Given the description of an element on the screen output the (x, y) to click on. 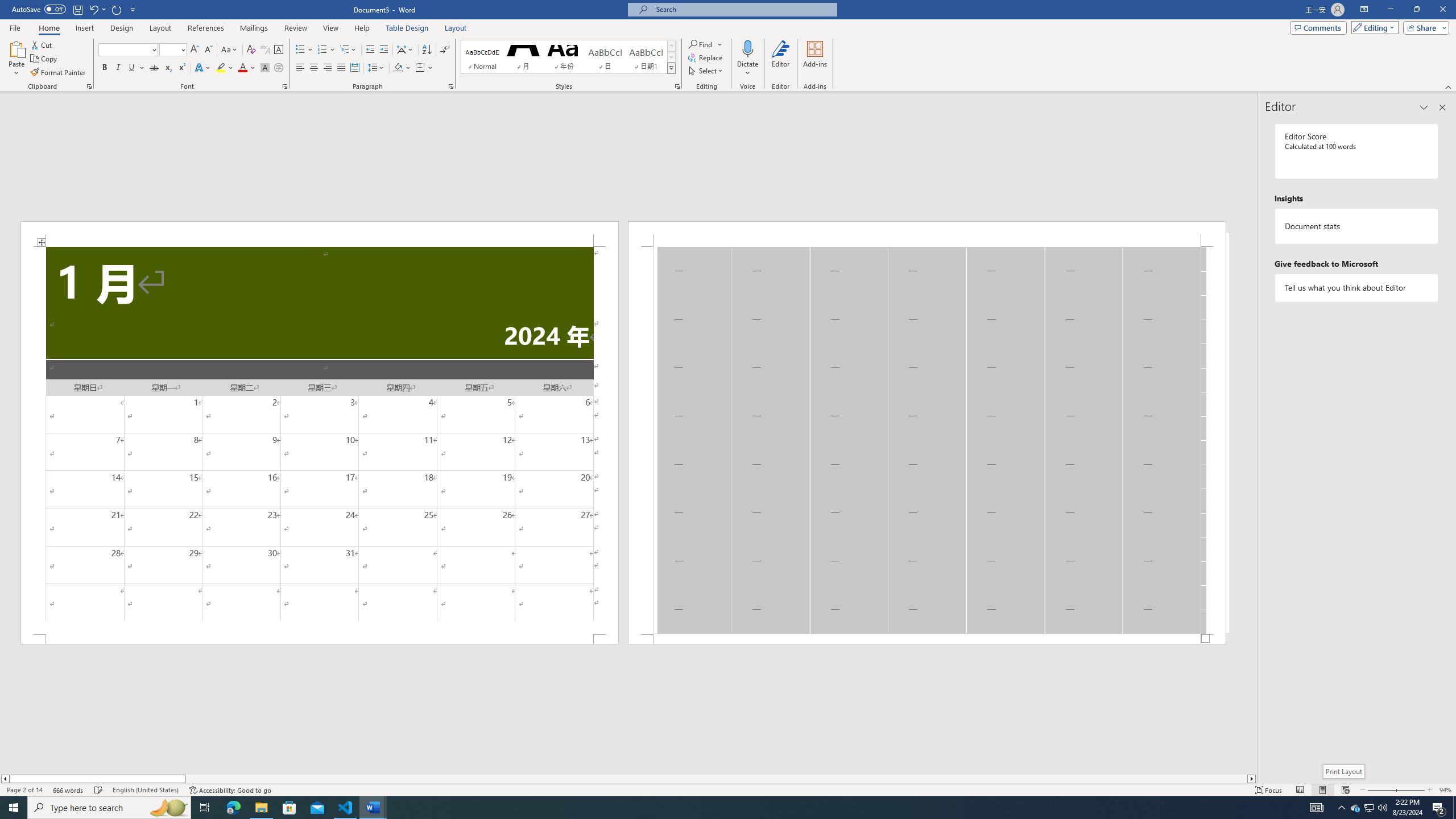
Font Color RGB(255, 0, 0) (241, 67)
Character Shading (264, 67)
Microsoft search (742, 9)
Word Count 666 words (68, 790)
Character Border (278, 49)
